Given the description of an element on the screen output the (x, y) to click on. 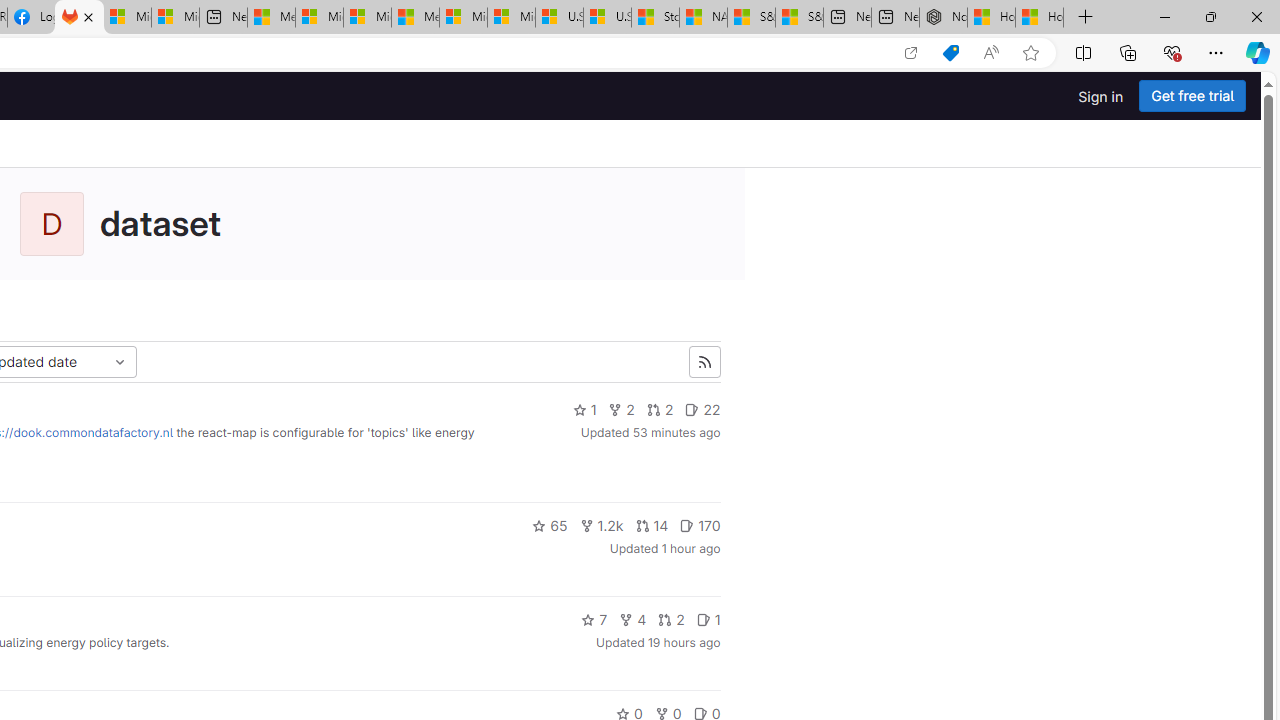
1 (708, 619)
Get free trial (1192, 95)
Class: s16 dropdown-menu-toggle-icon (119, 362)
7 (594, 619)
22 (702, 409)
Add this page to favorites (Ctrl+D) (1030, 53)
How to Use a Monitor With Your Closed Laptop (1039, 17)
4 (632, 619)
Minimize (1164, 16)
1.2k (601, 525)
Split screen (1083, 52)
Class: s14 gl-mr-2 (703, 619)
S&P 500, Nasdaq end lower, weighed by Nvidia dip | Watch (799, 17)
Sign in (1100, 95)
